Given the description of an element on the screen output the (x, y) to click on. 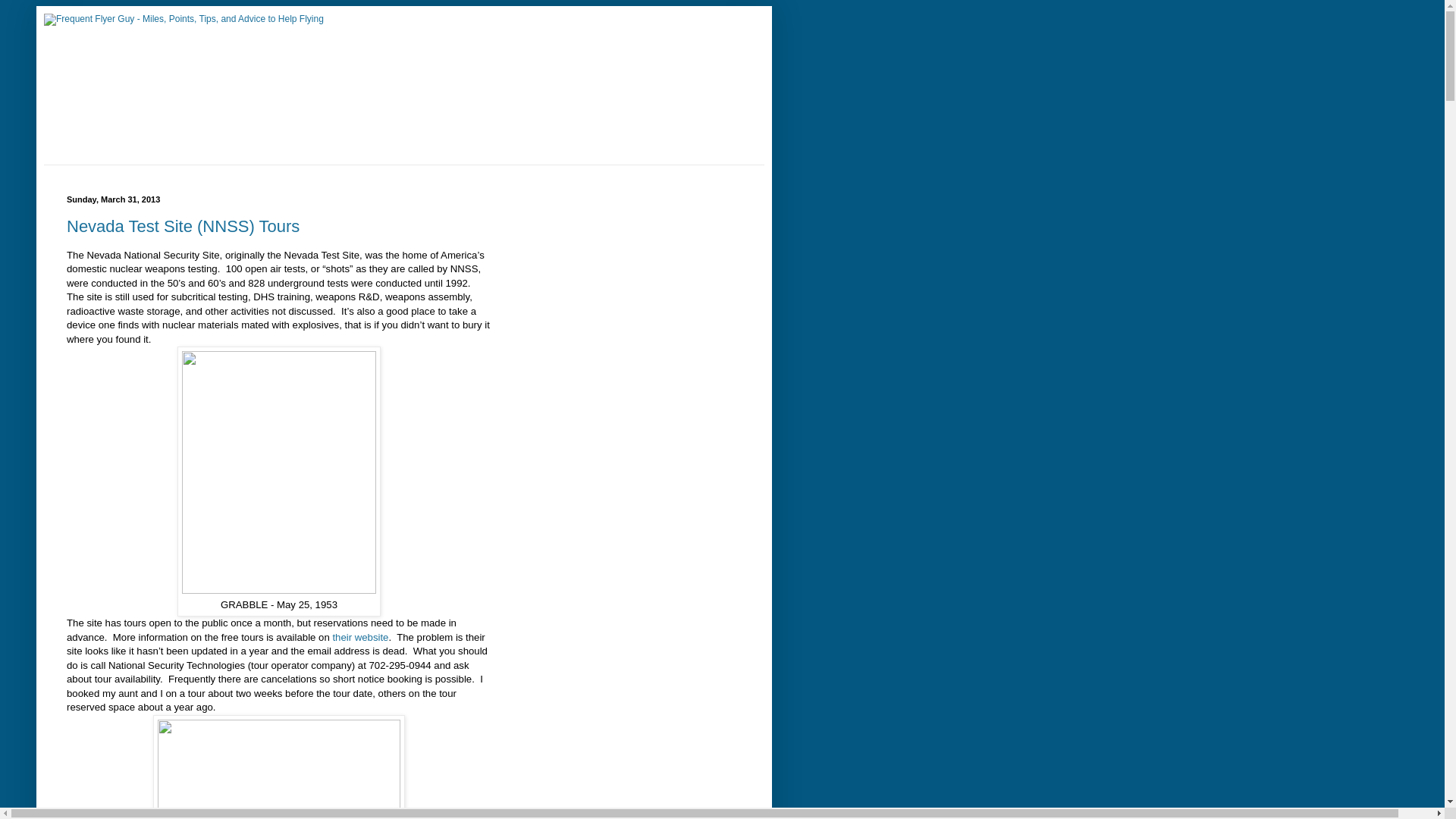
their website (359, 636)
